Given the description of an element on the screen output the (x, y) to click on. 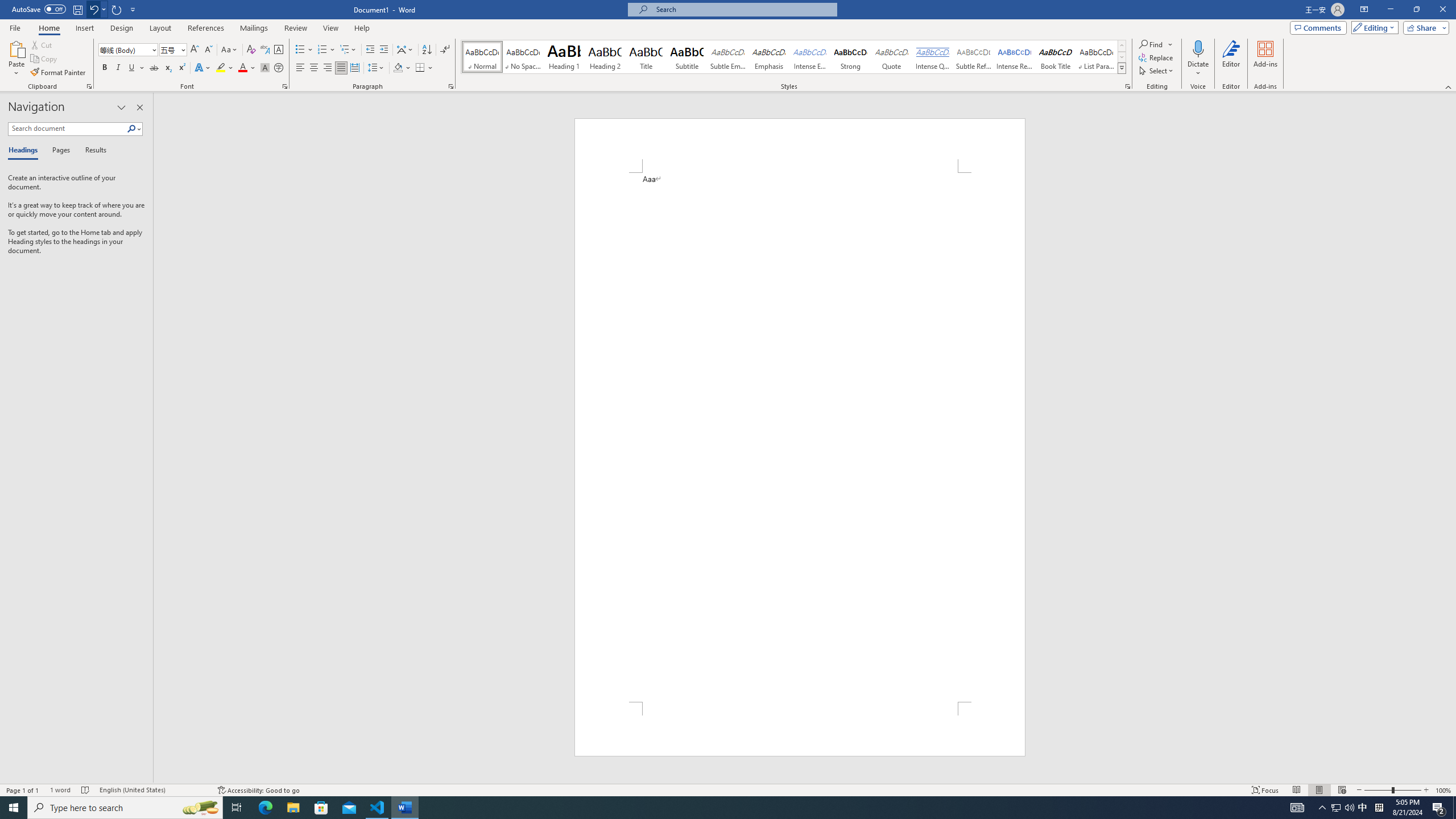
Emphasis (768, 56)
